Given the description of an element on the screen output the (x, y) to click on. 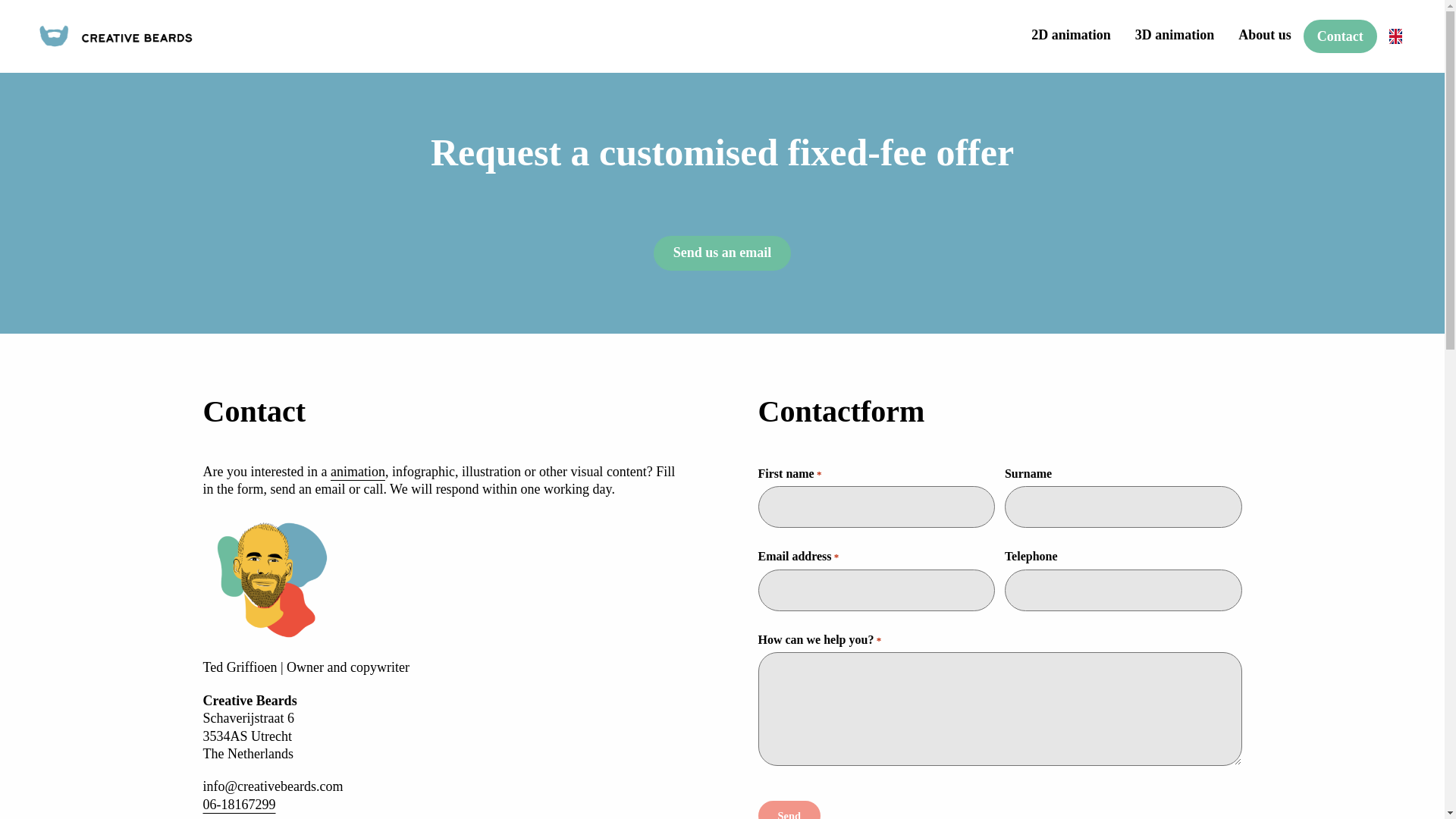
3D animation (1174, 34)
Send (789, 809)
Contact (1340, 36)
Send us an email (722, 253)
06-18167299 (239, 804)
2D animation (1070, 34)
Send (789, 809)
animation (357, 471)
About us (1264, 34)
